Given the description of an element on the screen output the (x, y) to click on. 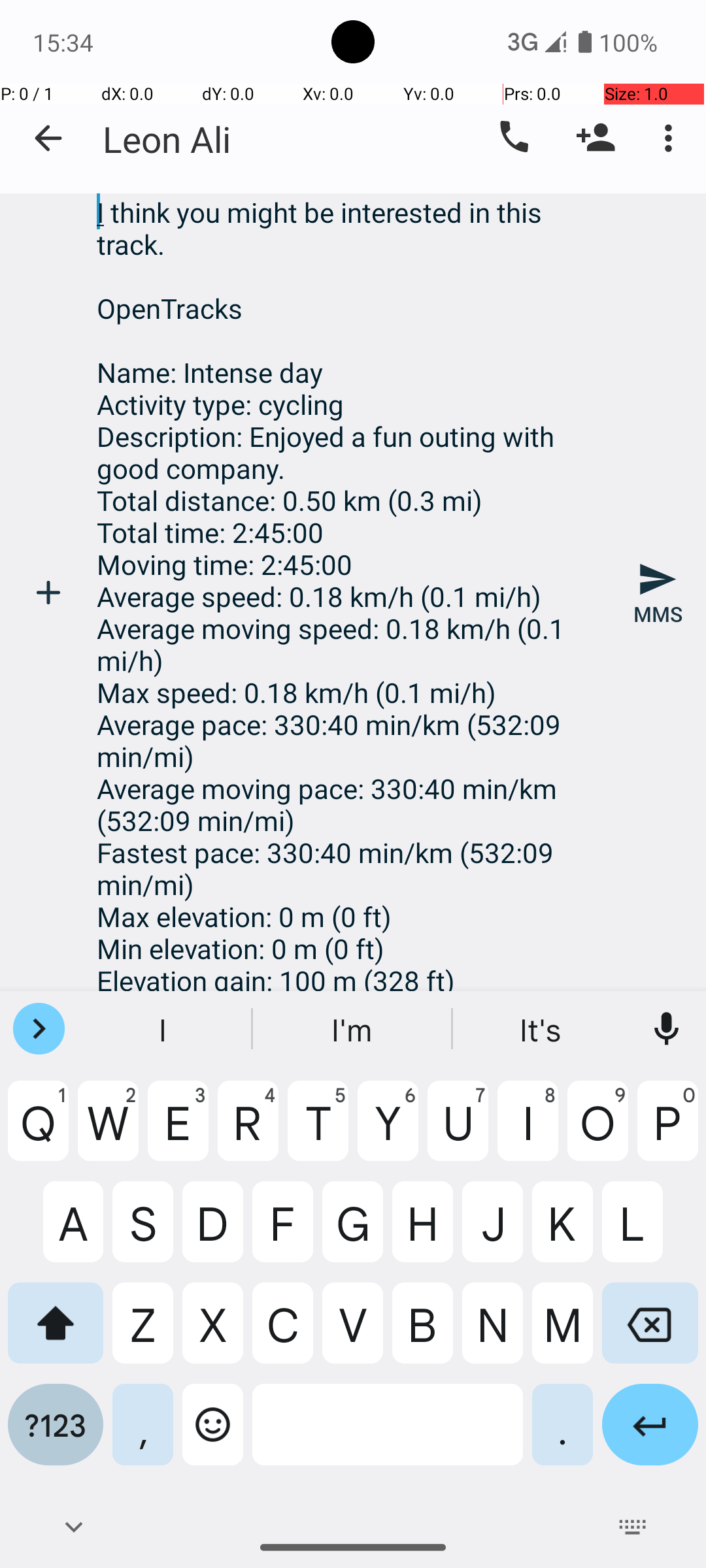
Leon Ali Element type: android.widget.TextView (166, 138)
I think you might be interested in this track.

OpenTracks

Name: Intense day
Activity type: cycling
Description: Enjoyed a fun outing with good company.
Total distance: 0.50 km (0.3 mi)
Total time: 2:45:00
Moving time: 2:45:00
Average speed: 0.18 km/h (0.1 mi/h)
Average moving speed: 0.18 km/h (0.1 mi/h)
Max speed: 0.18 km/h (0.1 mi/h)
Average pace: 330:40 min/km (532:09 min/mi)
Average moving pace: 330:40 min/km (532:09 min/mi)
Fastest pace: 330:40 min/km (532:09 min/mi)
Max elevation: 0 m (0 ft)
Min elevation: 0 m (0 ft)
Elevation gain: 100 m (328 ft)
Elevation loss: 150 m (492 ft)
Recorded: Sunday, October 15, 2023 at 5:00:00 PM Z
 Element type: android.widget.EditText (352, 592)
MMS Element type: android.widget.Button (657, 592)
I'm Element type: android.widget.FrameLayout (352, 1028)
It's Element type: android.widget.FrameLayout (541, 1028)
